Given the description of an element on the screen output the (x, y) to click on. 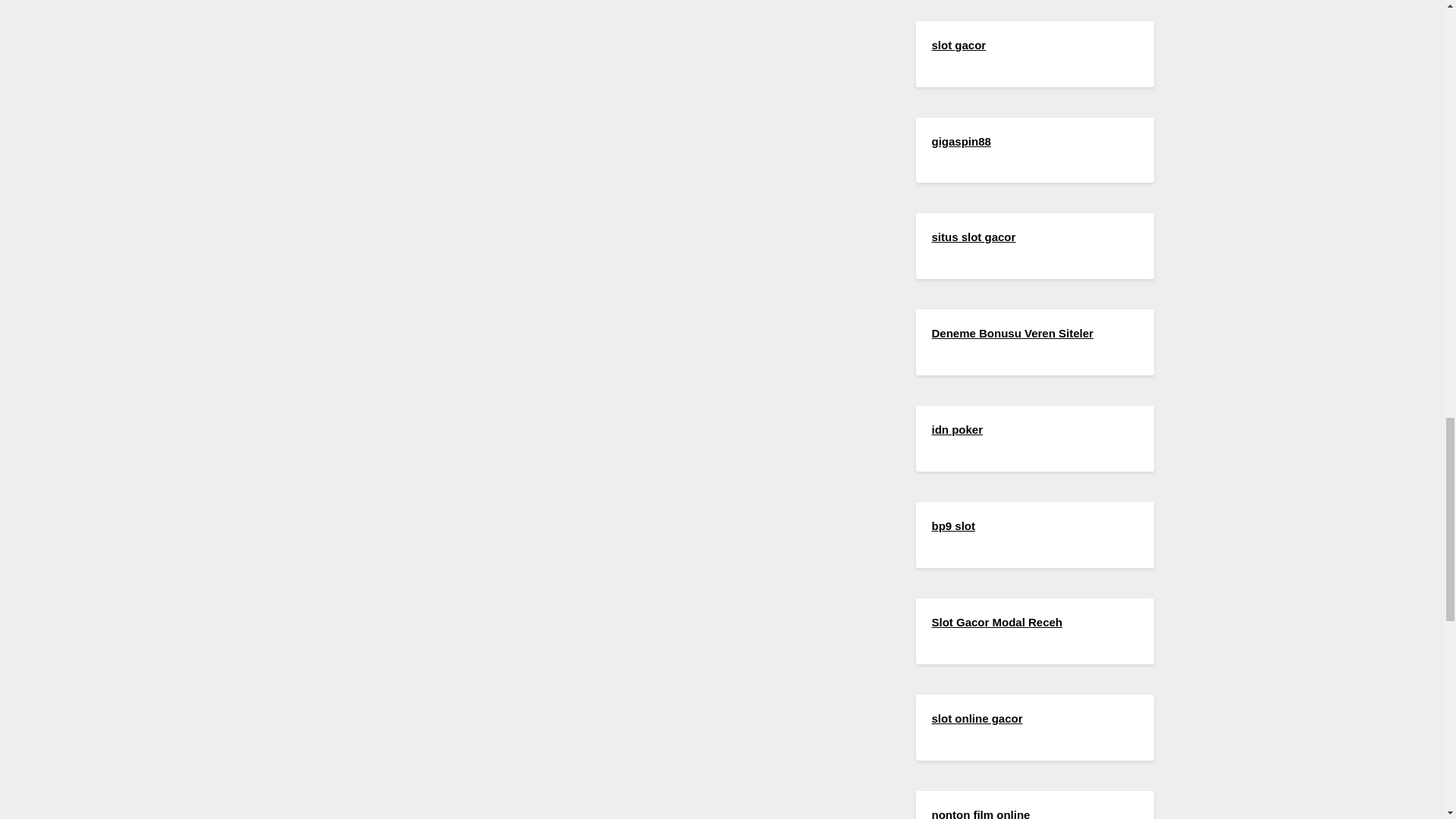
slot online gacor (976, 717)
bp9 slot (953, 525)
gigaspin88 (960, 141)
nonton film online (980, 813)
slot gacor (958, 44)
Slot Gacor Modal Receh (996, 621)
situs slot gacor (972, 236)
idn poker (956, 429)
Deneme Bonusu Veren Siteler (1012, 332)
